Given the description of an element on the screen output the (x, y) to click on. 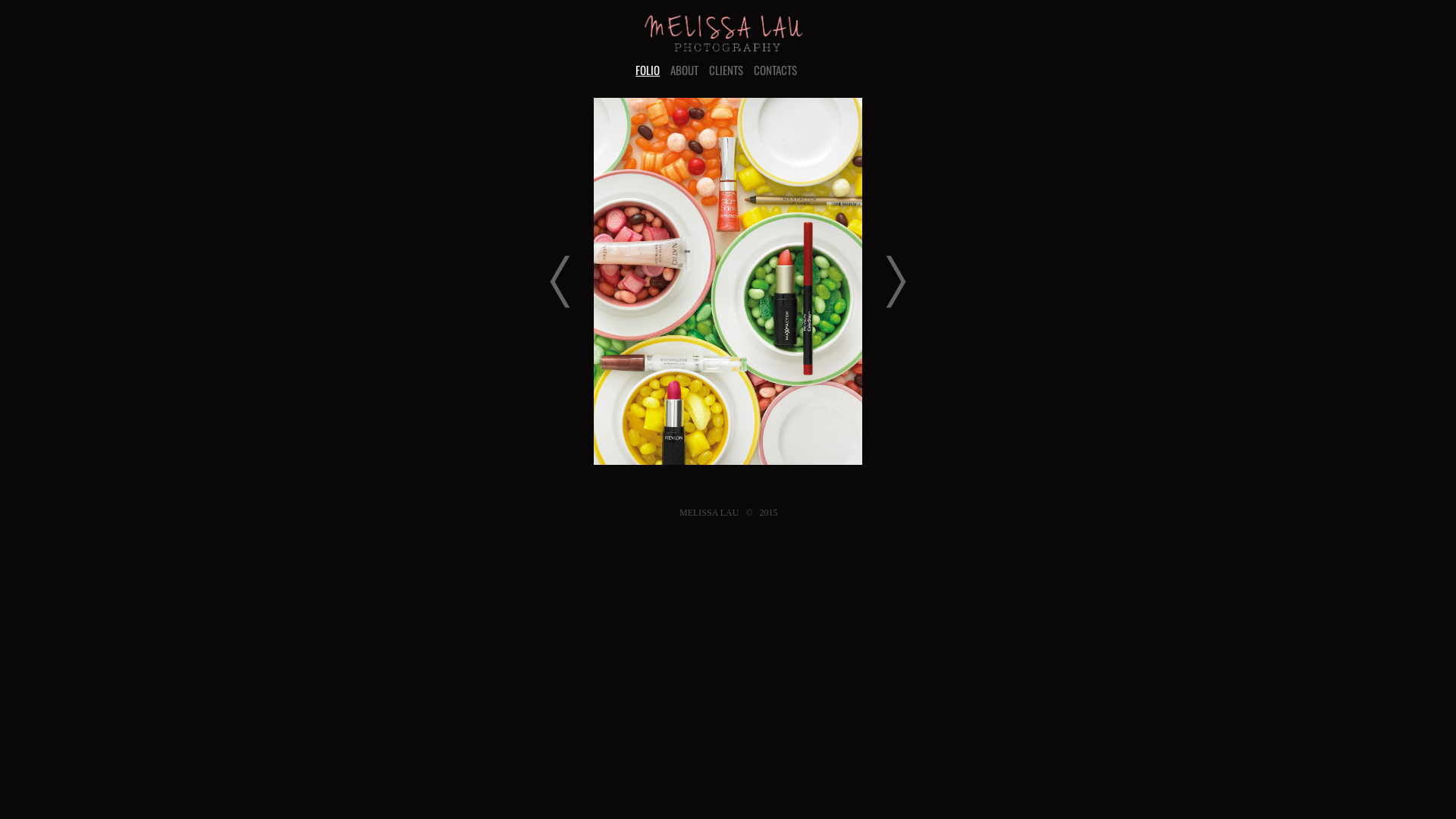
CLIENTS Element type: text (726, 69)
CONTACTS Element type: text (775, 69)
FOLIO Element type: text (647, 69)
ABOUT Element type: text (684, 69)
